Given the description of an element on the screen output the (x, y) to click on. 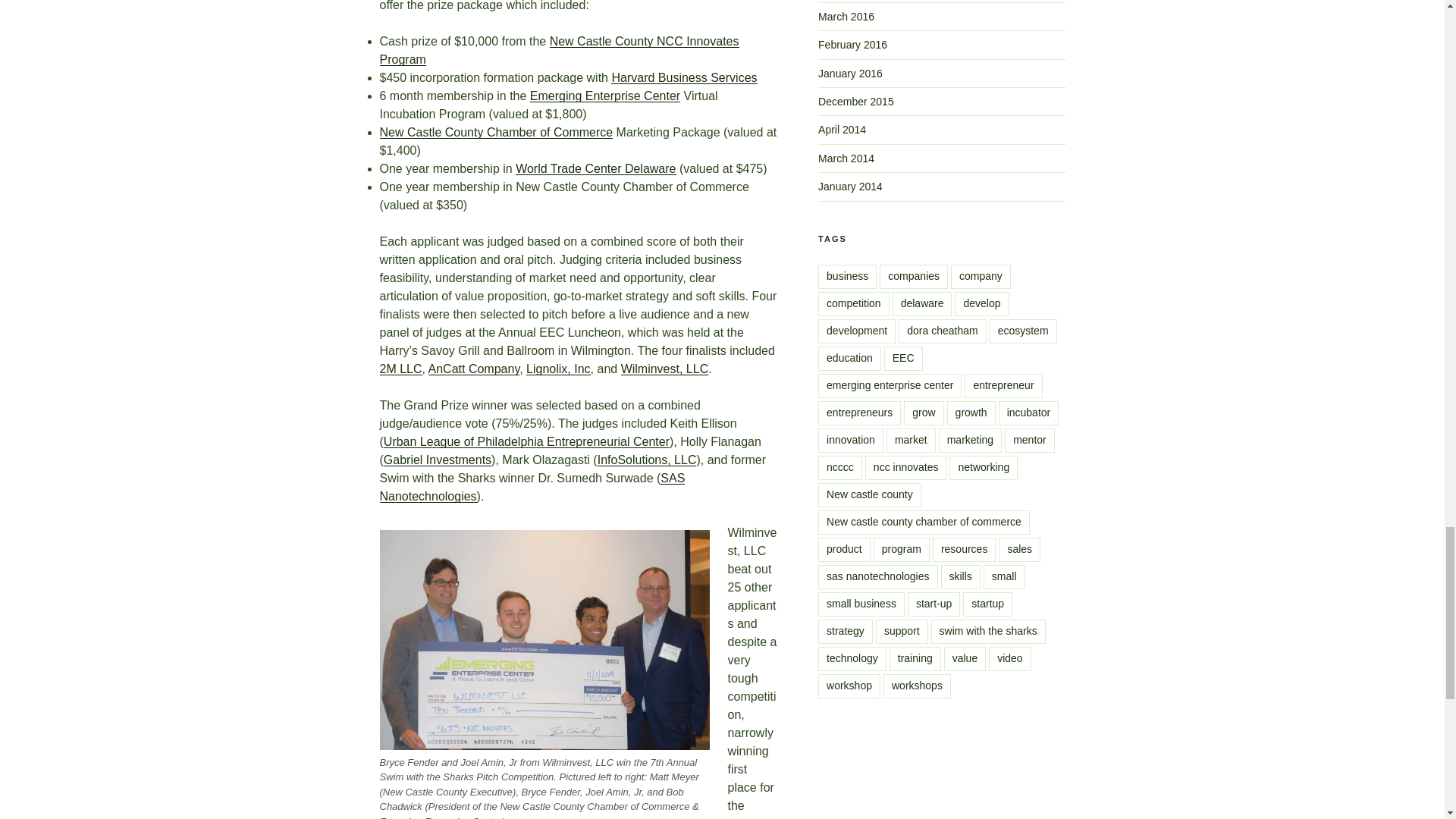
Gabriel Investments (438, 459)
New Castle County NCC Innovates Program (558, 50)
SAS Nanotechnologies (531, 486)
InfoSolutions, LLC (646, 459)
Urban League of Philadelphia Entrepreneurial Center (526, 440)
Emerging Enterprise Center (604, 95)
2M LLC (400, 368)
Harvard Business Services (684, 77)
Lignolix, Inc (558, 368)
Wilminvest, LLC (665, 368)
New Castle County Chamber of Commerce (495, 132)
World Trade Center Delaware (595, 168)
AnCatt Company (473, 368)
